Given the description of an element on the screen output the (x, y) to click on. 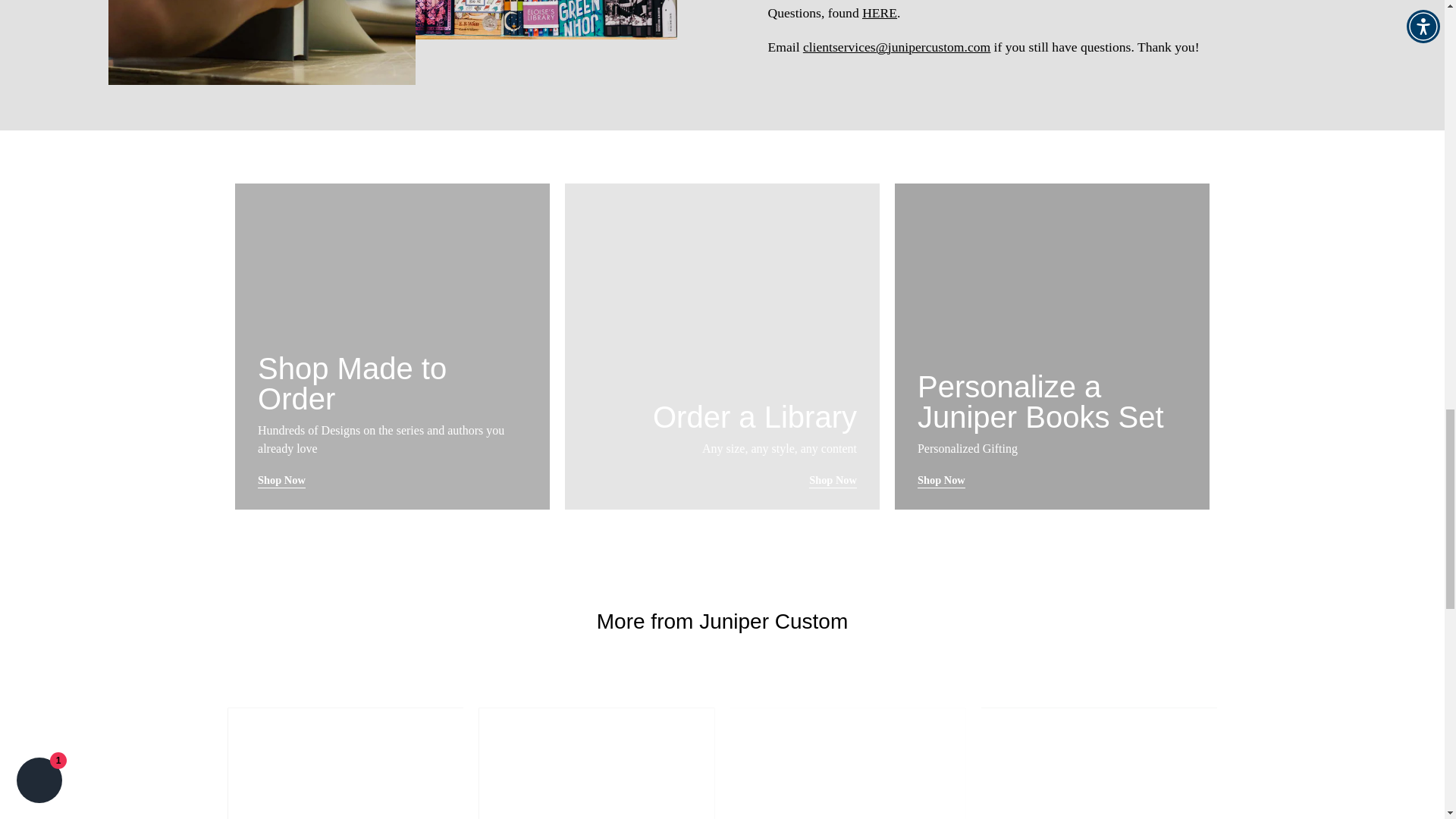
Link to Juniper Custom FAQ (878, 12)
